Given the description of an element on the screen output the (x, y) to click on. 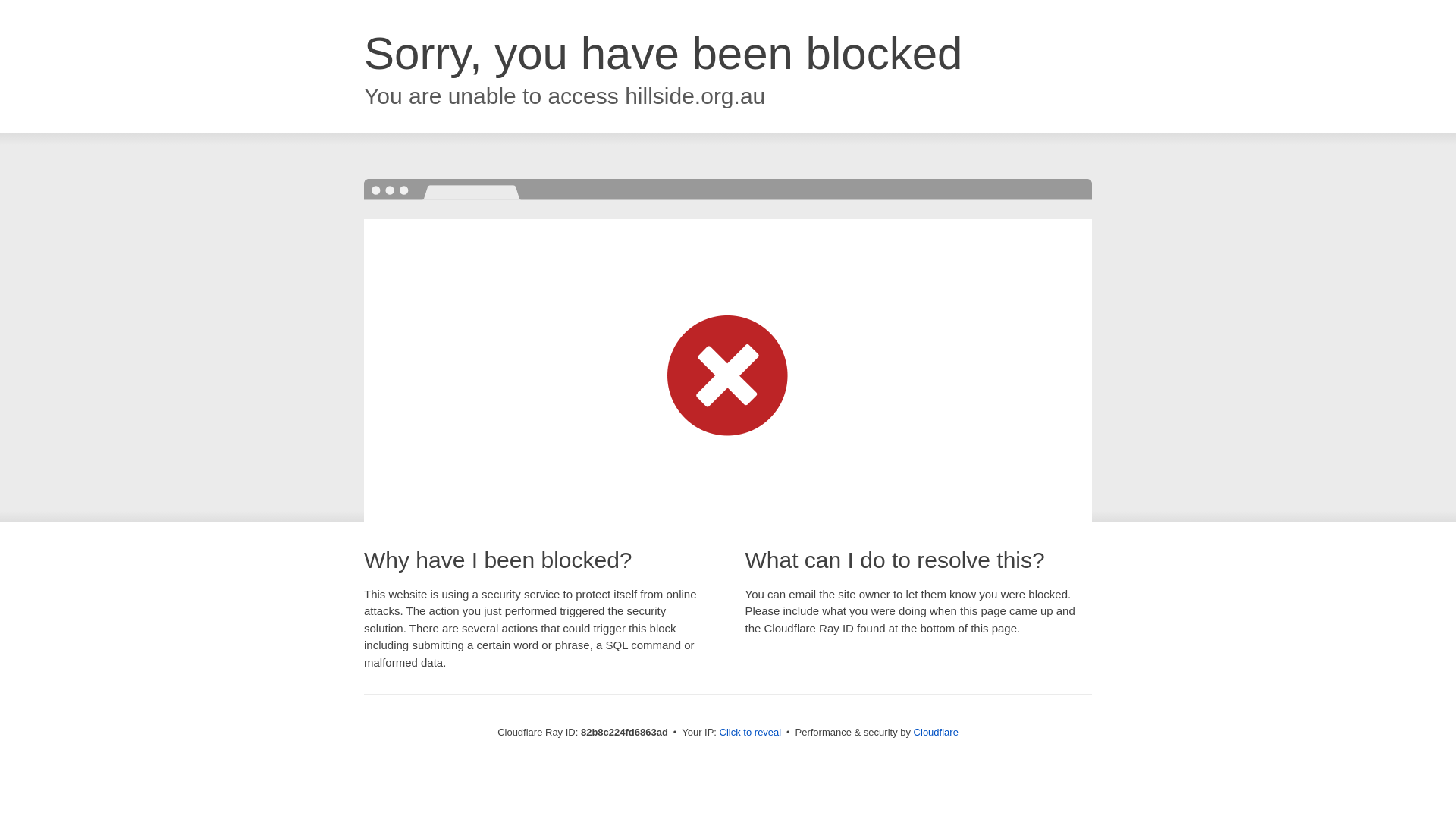
Click to reveal Element type: text (750, 732)
Cloudflare Element type: text (935, 731)
